Given the description of an element on the screen output the (x, y) to click on. 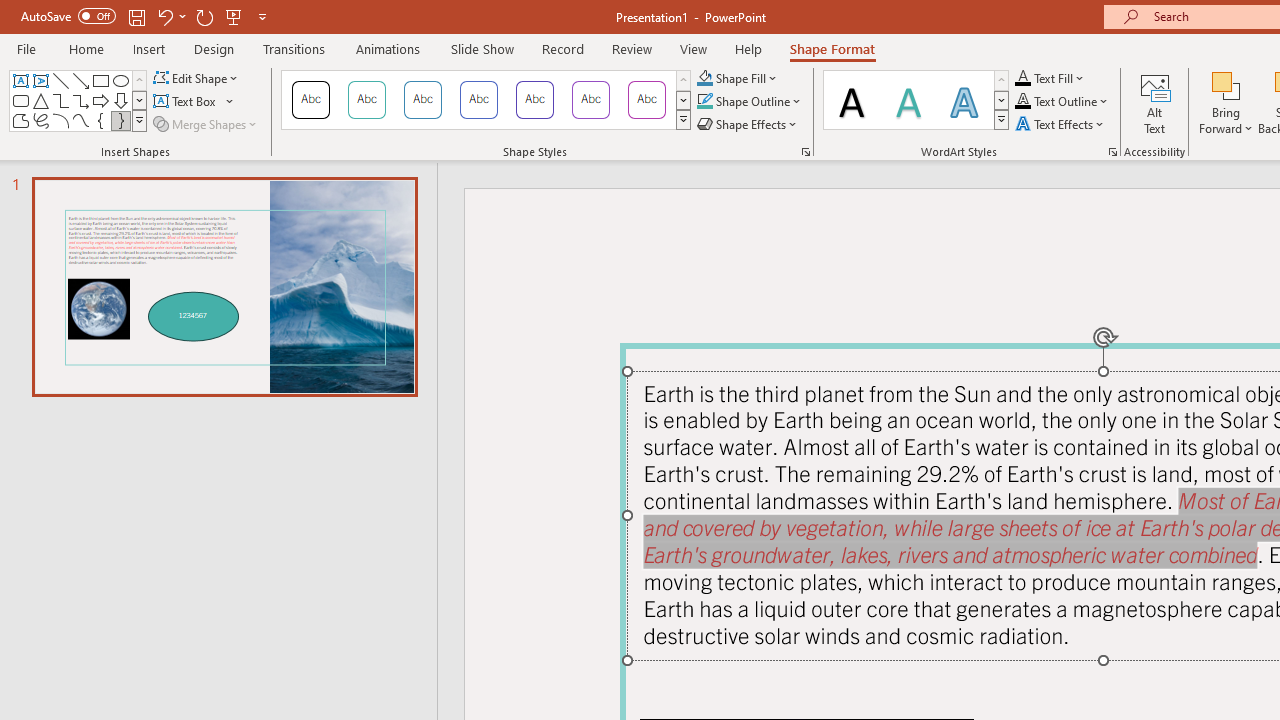
Bring Forward (1225, 84)
Left Brace (100, 120)
Colored Outline - Teal, Accent 1 (367, 100)
Shapes (139, 120)
